Given the description of an element on the screen output the (x, y) to click on. 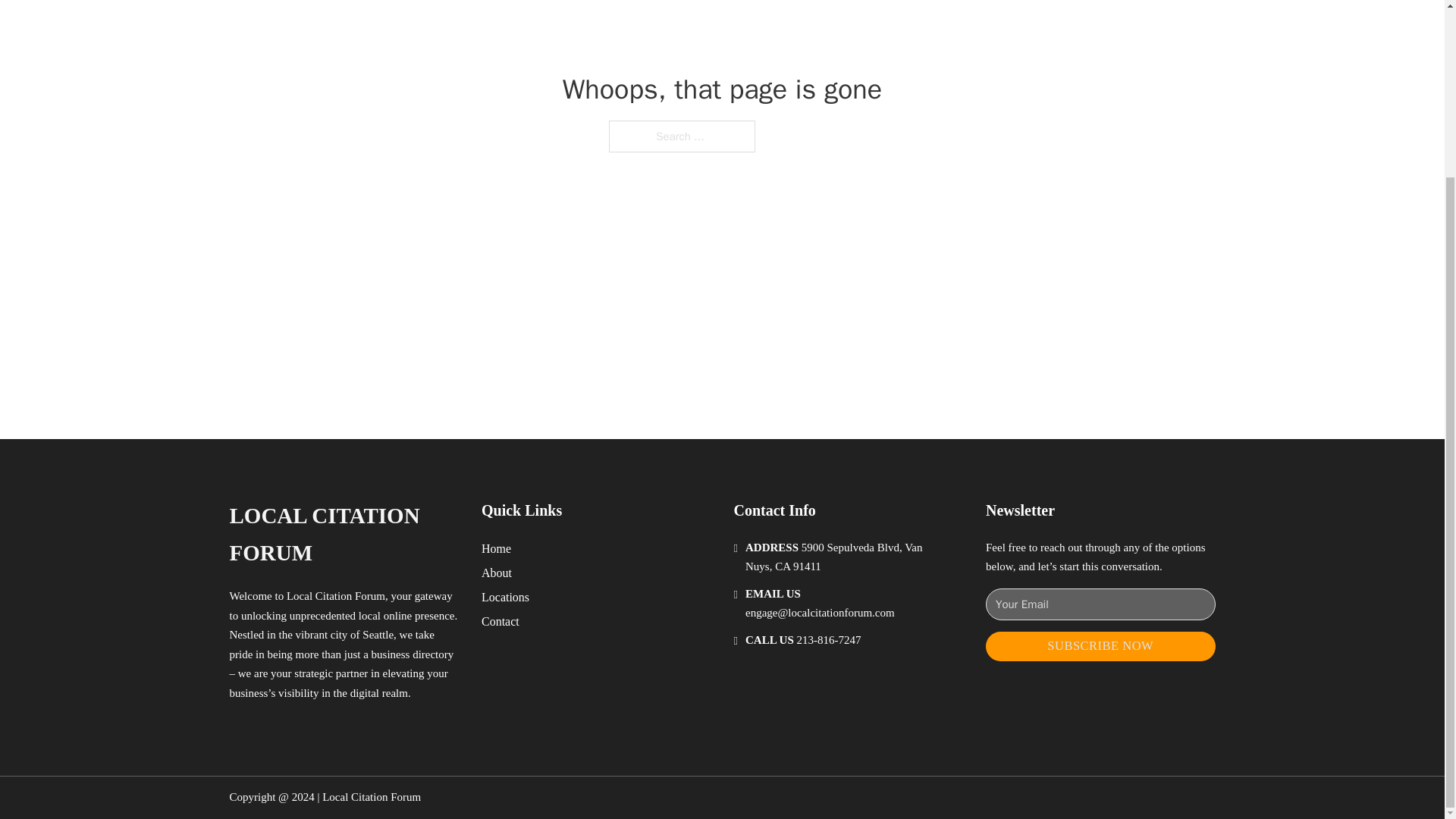
Contact (500, 620)
LOCAL CITATION FORUM (343, 534)
Locations (505, 597)
SUBSCRIBE NOW (1100, 645)
About (496, 572)
Home (496, 548)
